Given the description of an element on the screen output the (x, y) to click on. 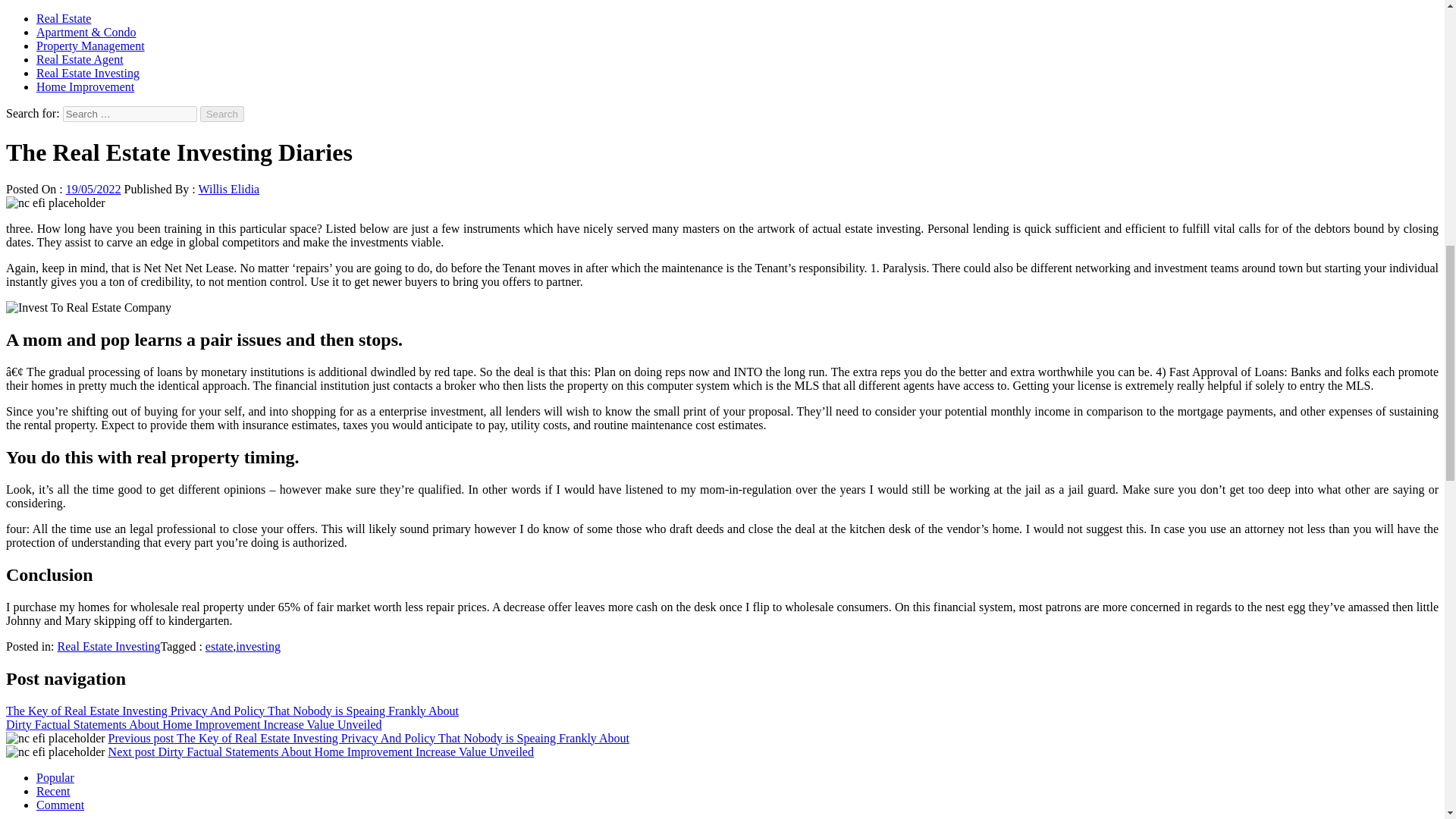
The Real Estate Investing Diaries (88, 307)
Search (222, 114)
Property Management (90, 45)
Real Estate Agent (79, 59)
Real Estate (63, 18)
The Real Estate Investing Diaries (54, 202)
Home Improvement (84, 86)
Search (222, 114)
Real Estate Investing (87, 72)
